Given the description of an element on the screen output the (x, y) to click on. 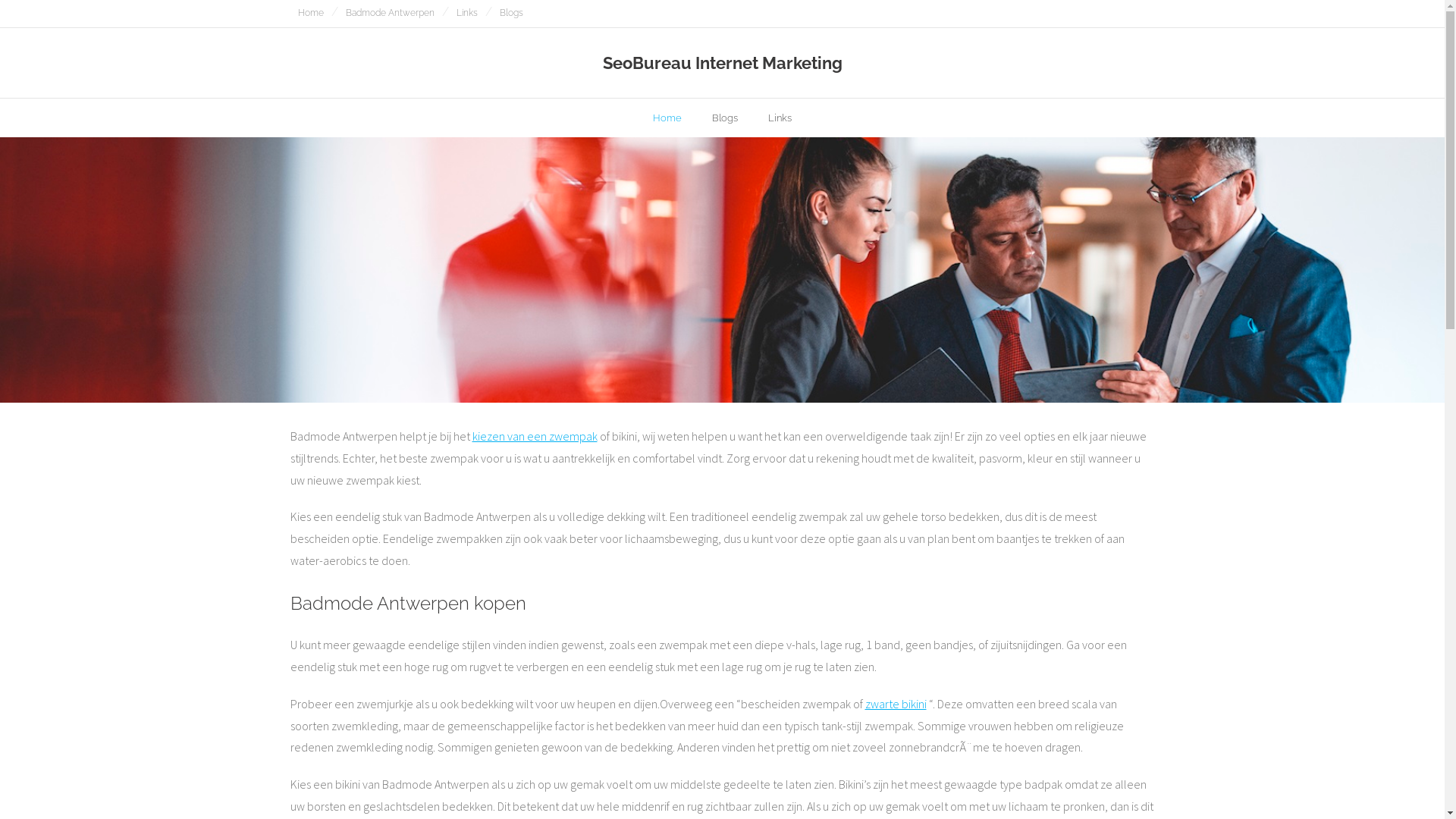
Links Element type: text (779, 117)
Badmode Antwerpen Element type: text (390, 13)
Links Element type: text (466, 13)
zwarte bikini Element type: text (894, 703)
Blogs Element type: text (724, 117)
kiezen van een zwempak Element type: text (533, 435)
Home Element type: text (309, 13)
SeoBureau Internet Marketing Element type: text (722, 62)
Home Element type: text (666, 117)
Blogs Element type: text (510, 13)
